Given the description of an element on the screen output the (x, y) to click on. 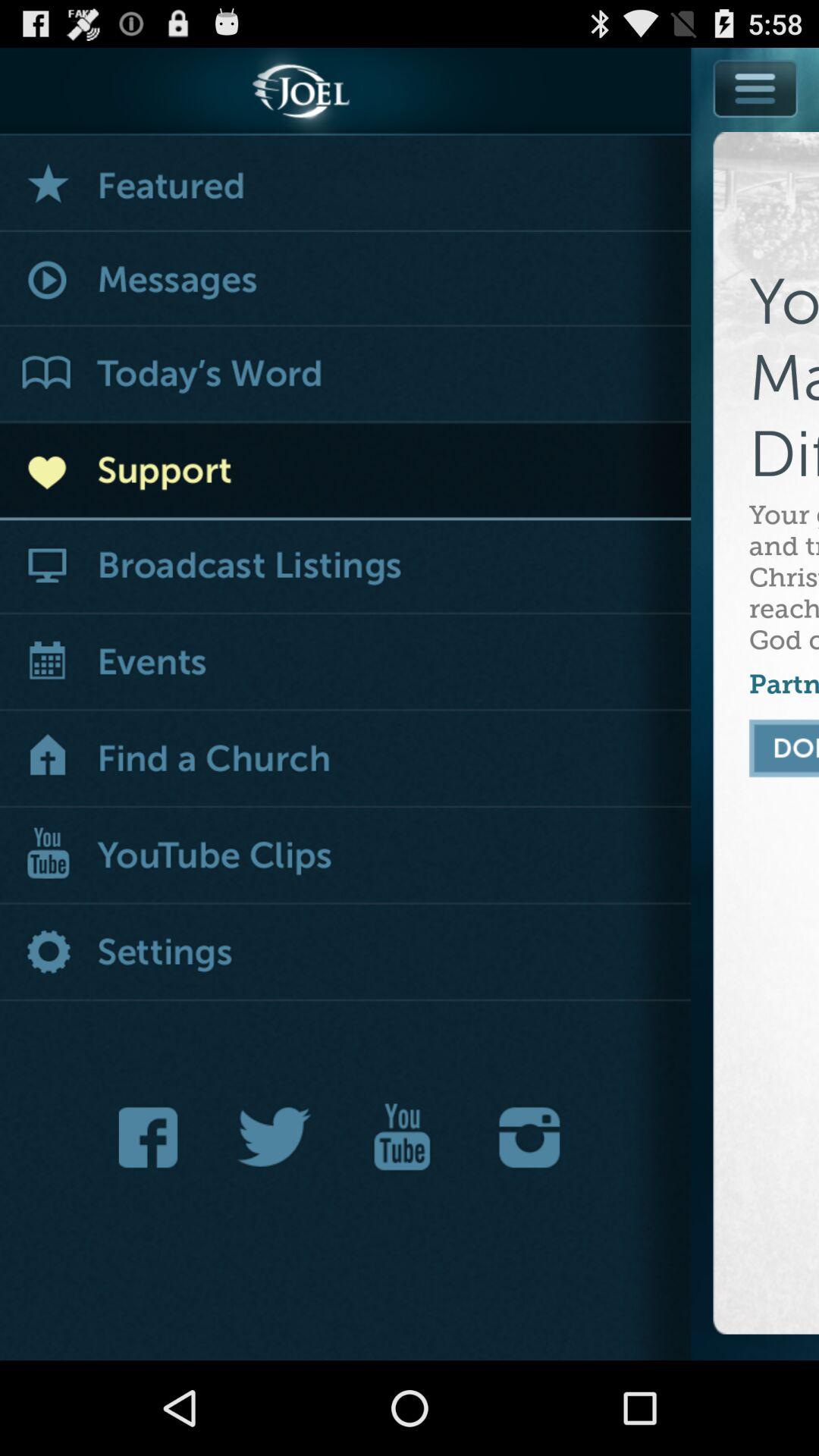
turn on the app to the left of the partner with us icon (345, 760)
